Given the description of an element on the screen output the (x, y) to click on. 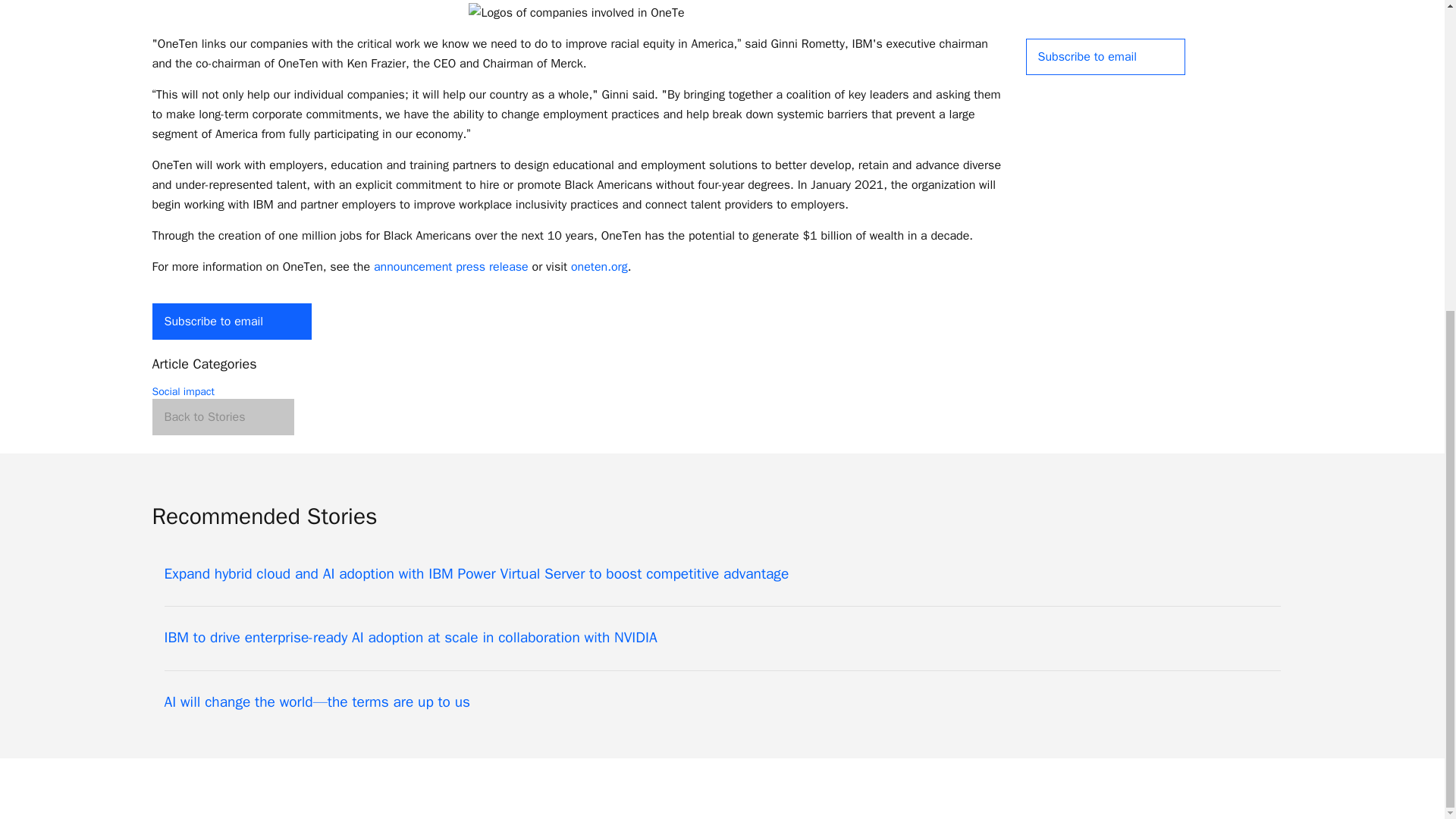
announcement press release (451, 266)
